Given the description of an element on the screen output the (x, y) to click on. 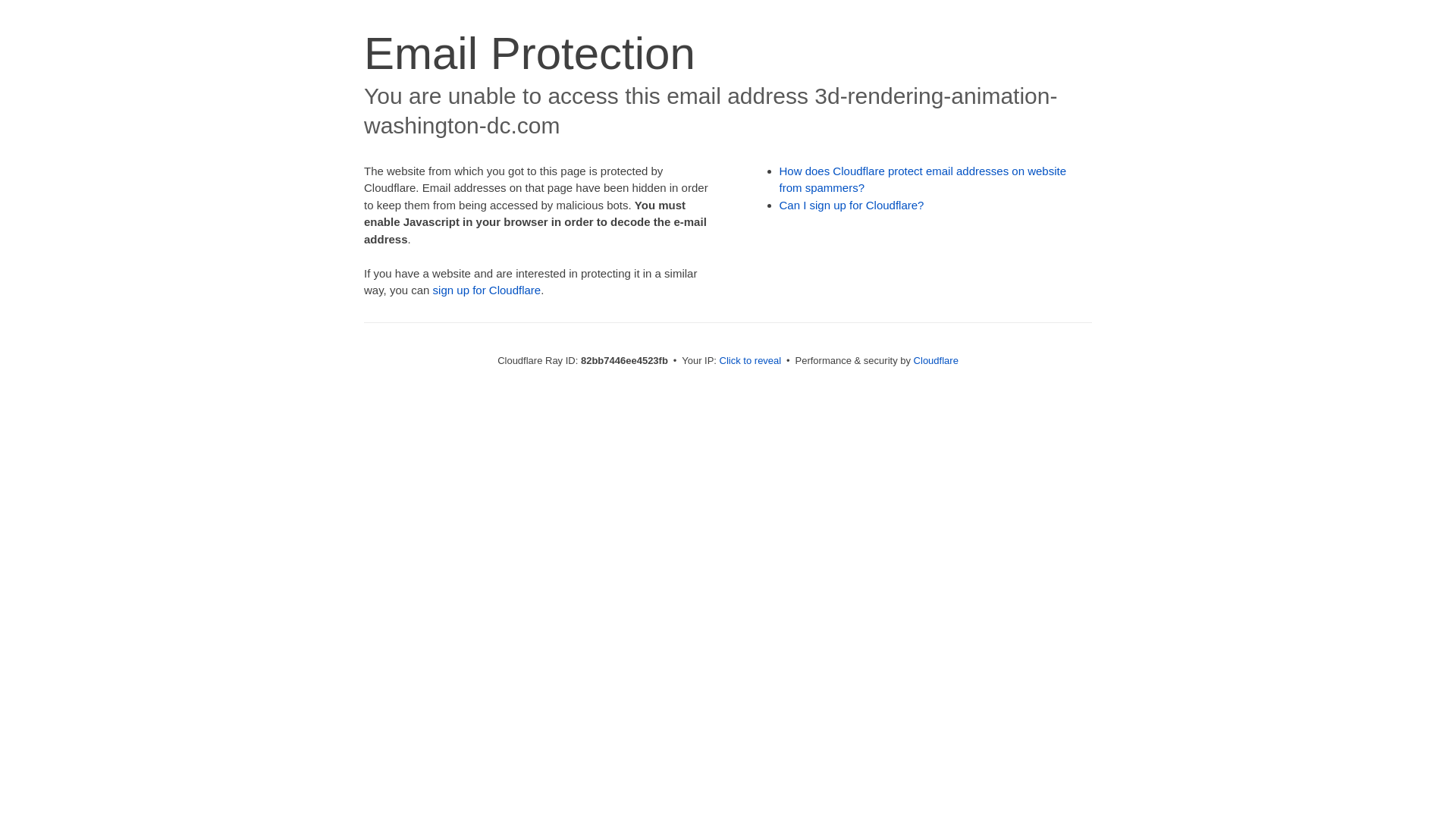
sign up for Cloudflare Element type: text (487, 289)
Cloudflare Element type: text (935, 360)
Click to reveal Element type: text (750, 360)
Can I sign up for Cloudflare? Element type: text (851, 204)
